Given the description of an element on the screen output the (x, y) to click on. 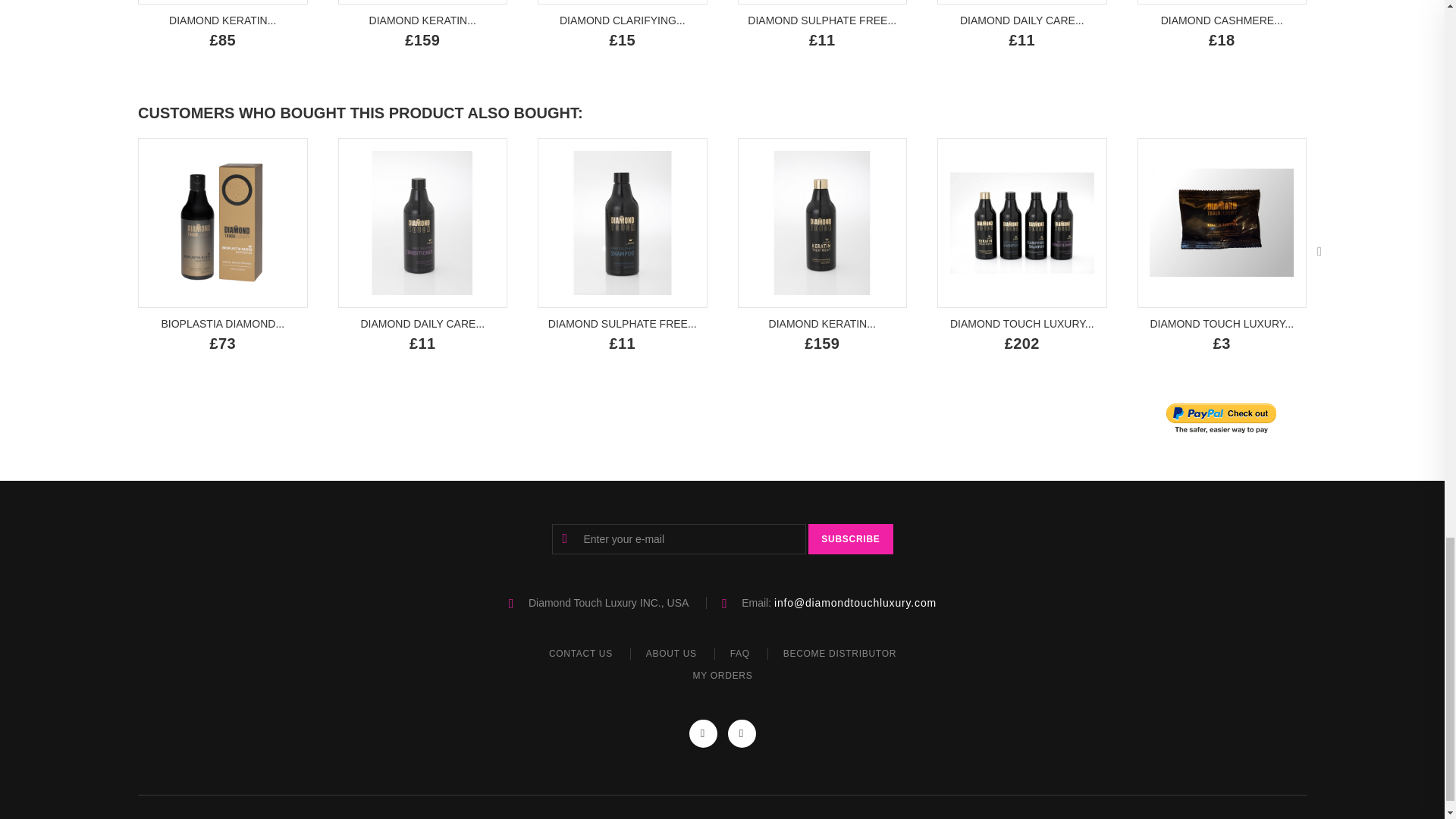
DIAMOND SULPHATE FREE... (822, 20)
DIAMOND KERATIN TREATMENT 500ML (222, 20)
DIAMOND KERATIN... (422, 20)
Enter your e-mail (678, 539)
DIAMOND KERATIN... (222, 20)
DIAMOND DAILY CARE... (1021, 20)
DIAMOND CLARIFYING... (622, 20)
DIAMOND KERATIN TREATMENT 500ML (222, 2)
